Given the description of an element on the screen output the (x, y) to click on. 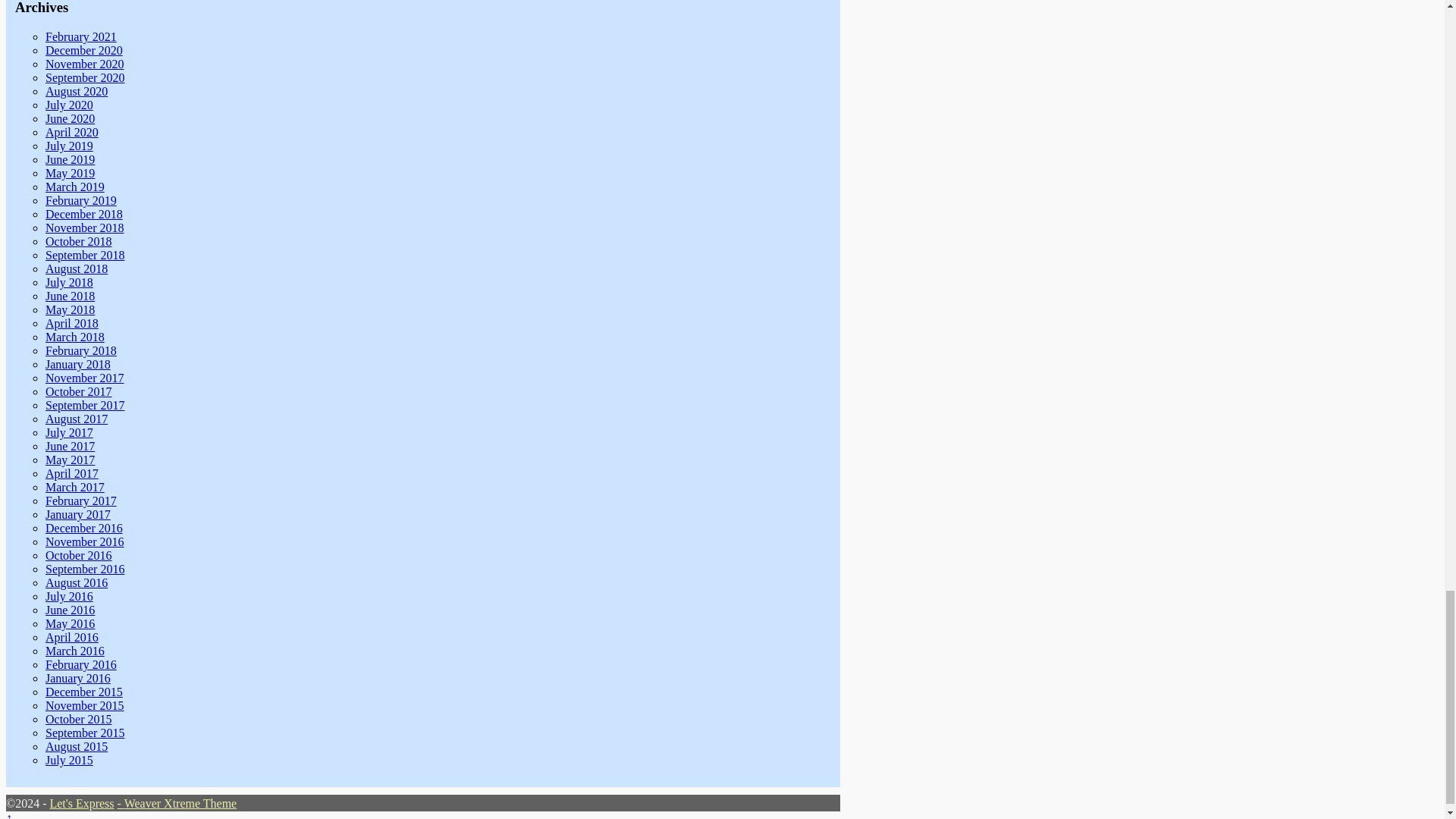
Let's Express (81, 802)
Weaver Xtreme Theme (180, 802)
February 2021 (80, 36)
